Given the description of an element on the screen output the (x, y) to click on. 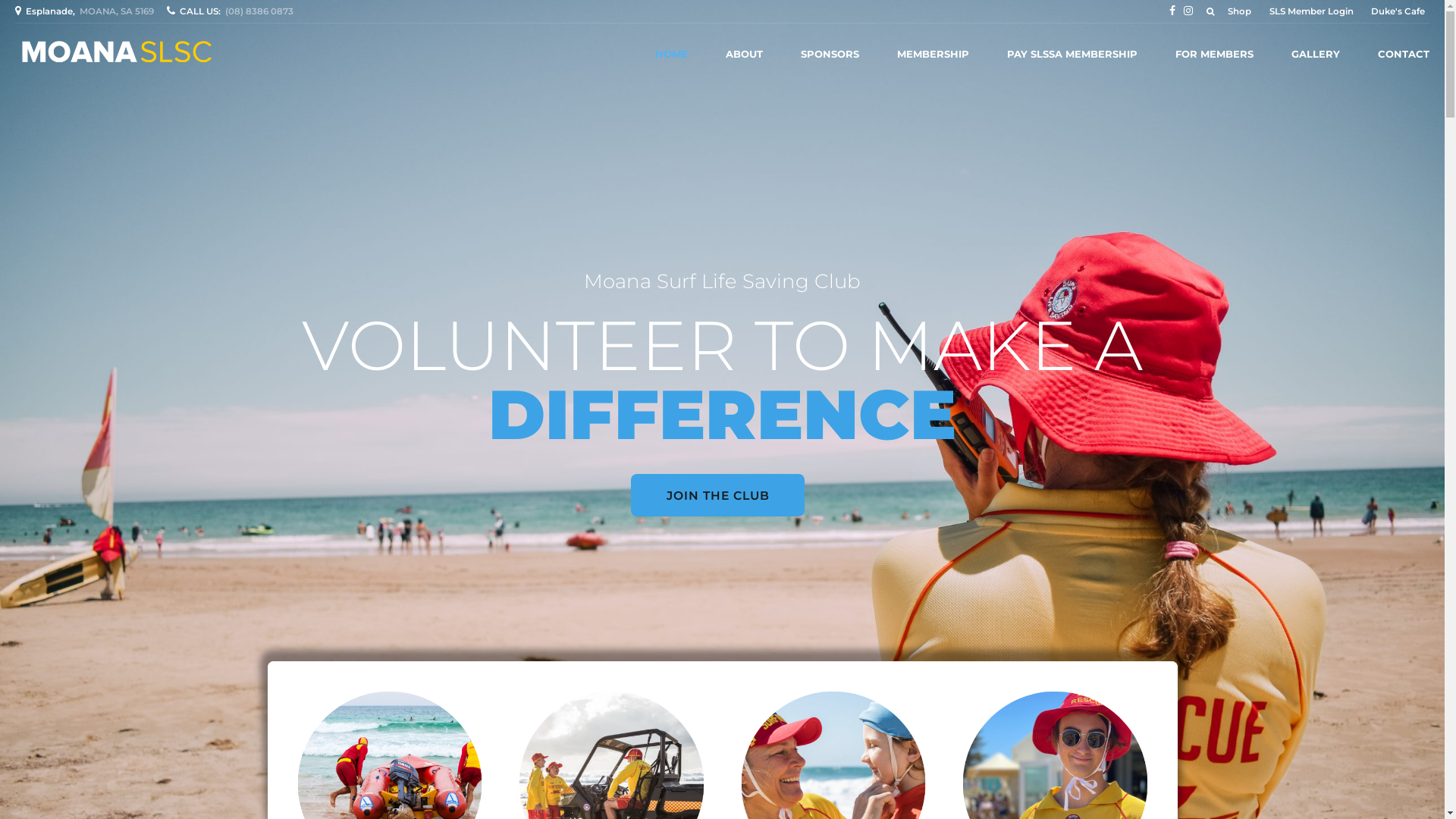
SLS Member Login Element type: text (1311, 11)
FOR MEMBERS Element type: text (1214, 53)
MEMBERSHIP Element type: text (933, 53)
SPONSORS Element type: text (829, 53)
ABOUT Element type: text (743, 53)
JOIN THE CLUB Element type: text (717, 495)
CALL US:(08) 8386 0873 Element type: text (232, 11)
PAY SLSSA MEMBERSHIP Element type: text (1072, 53)
CONTACT Element type: text (1403, 53)
Duke's Cafe Element type: text (1397, 11)
GALLERY Element type: text (1315, 53)
HOME Element type: text (671, 53)
Shop Element type: text (1239, 11)
